Given the description of an element on the screen output the (x, y) to click on. 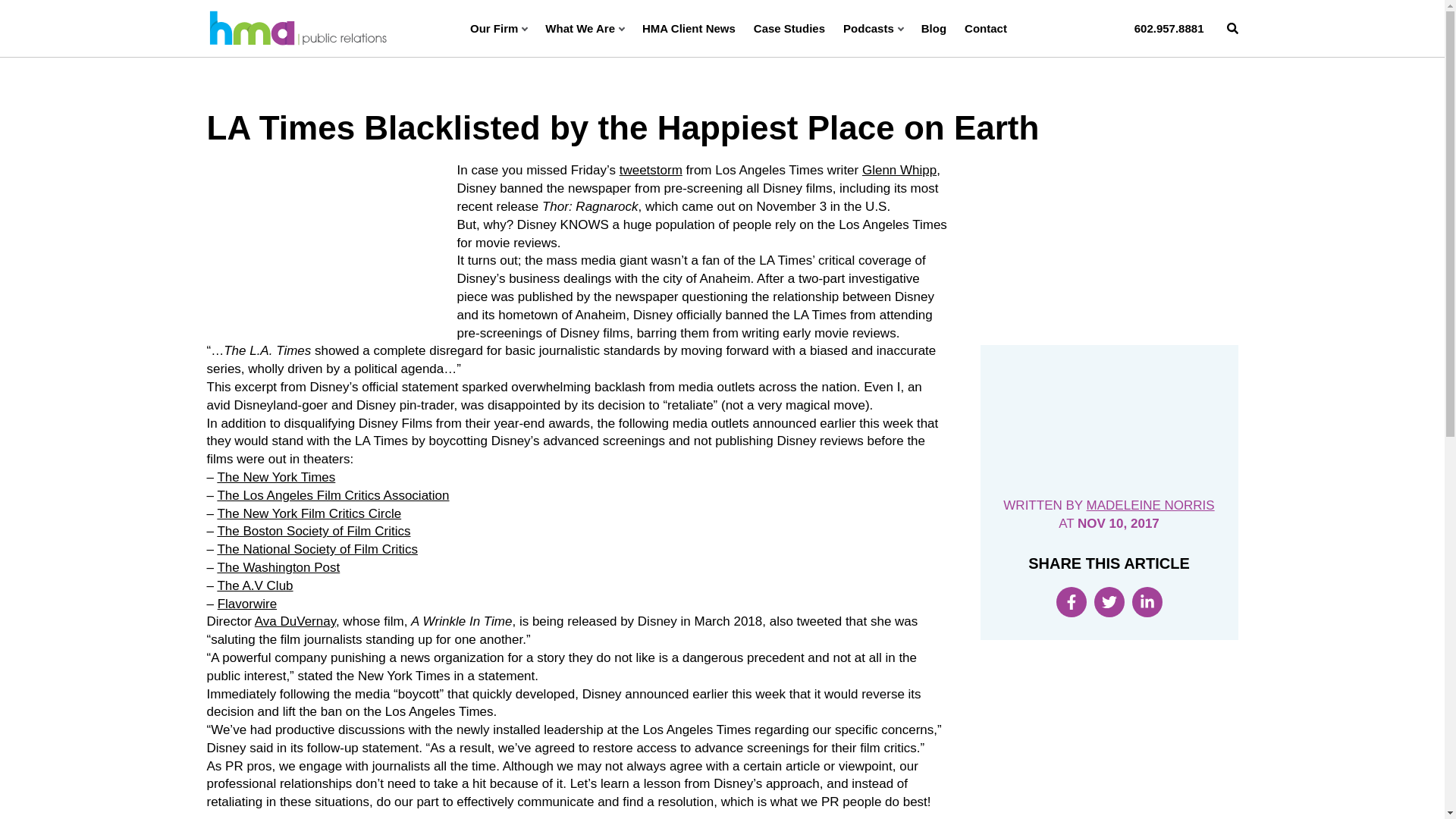
The New York Times (275, 477)
MADELEINE NORRIS (1150, 504)
Glenn Whipp (898, 169)
The A.V Club (254, 585)
What We Are (584, 28)
602.957.8881 (1169, 28)
The New York Film Critics Circle (308, 513)
Case Studies (789, 28)
Flavorwire (246, 603)
The Los Angeles Film Critics Association (332, 495)
